Given the description of an element on the screen output the (x, y) to click on. 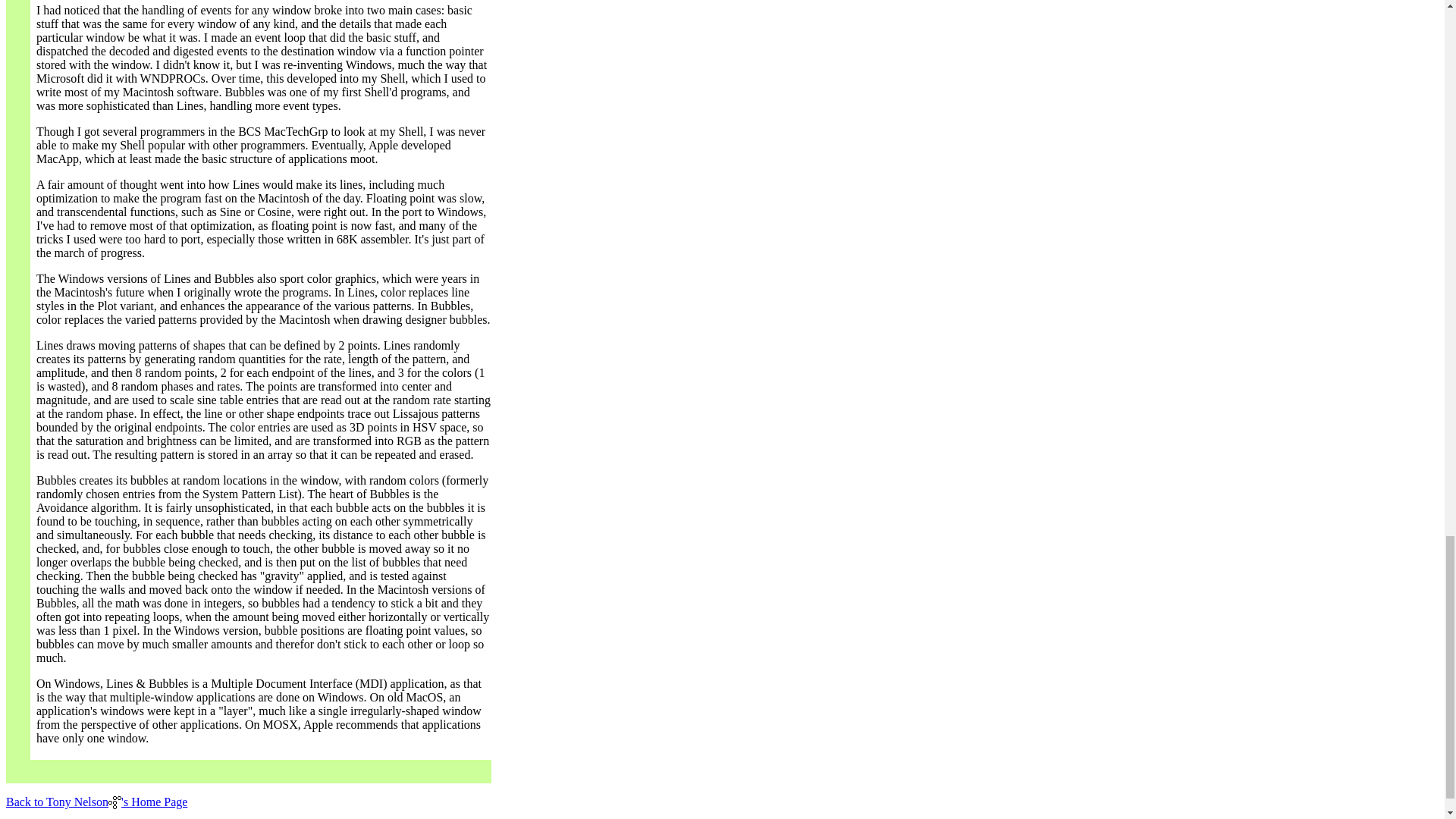
Back to Tony Nelson's Home Page (96, 801)
